Given the description of an element on the screen output the (x, y) to click on. 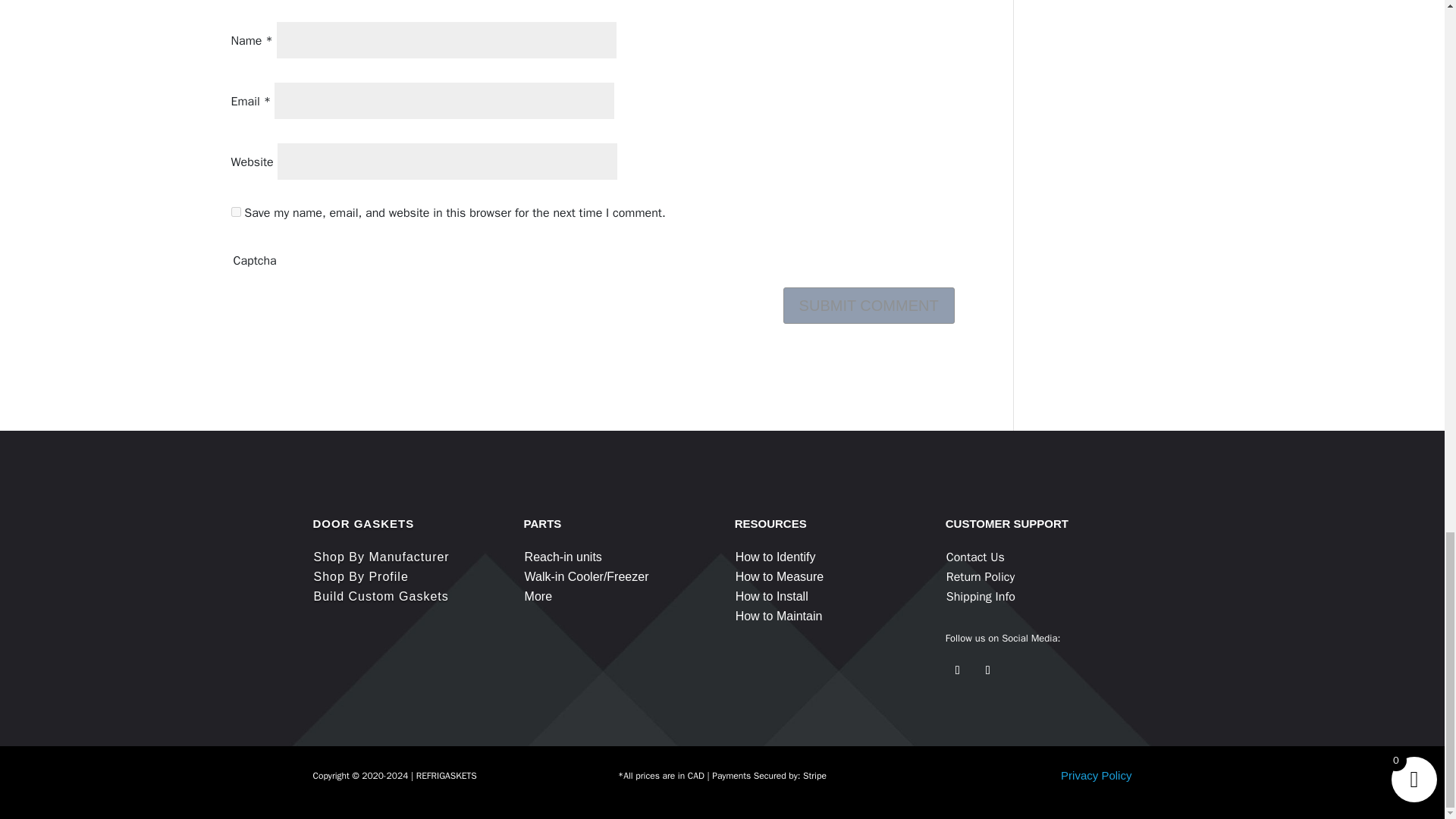
Follow on Facebook (956, 670)
Reach-in units (563, 556)
Follow on LinkedIn (987, 670)
yes (235, 212)
Shop By Manufacturer (381, 556)
Submit Comment (869, 305)
Shop By Profile (361, 576)
More (537, 595)
Build Custom Gaskets (381, 595)
Submit Comment (869, 305)
